Given the description of an element on the screen output the (x, y) to click on. 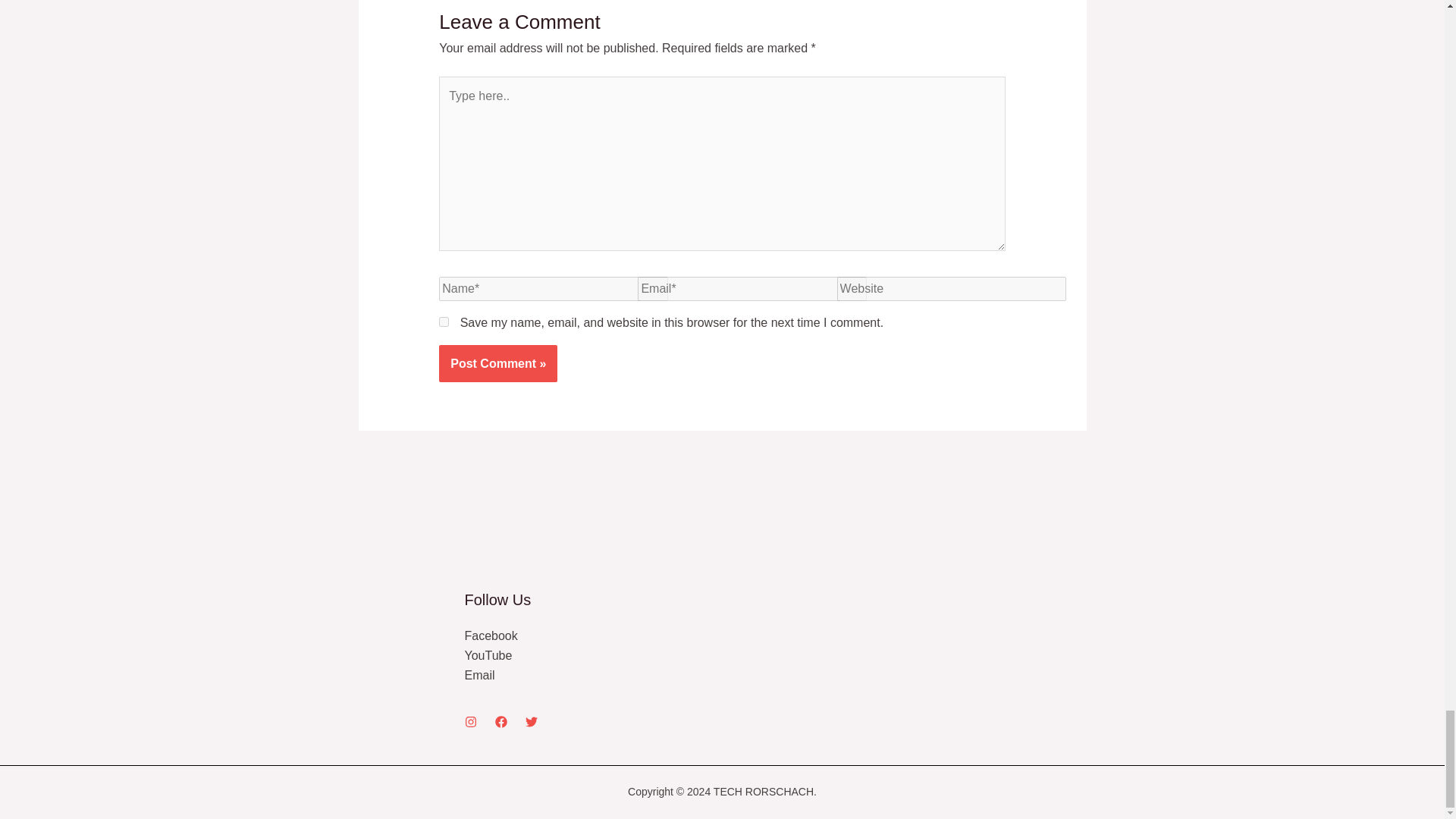
yes (443, 321)
